Given the description of an element on the screen output the (x, y) to click on. 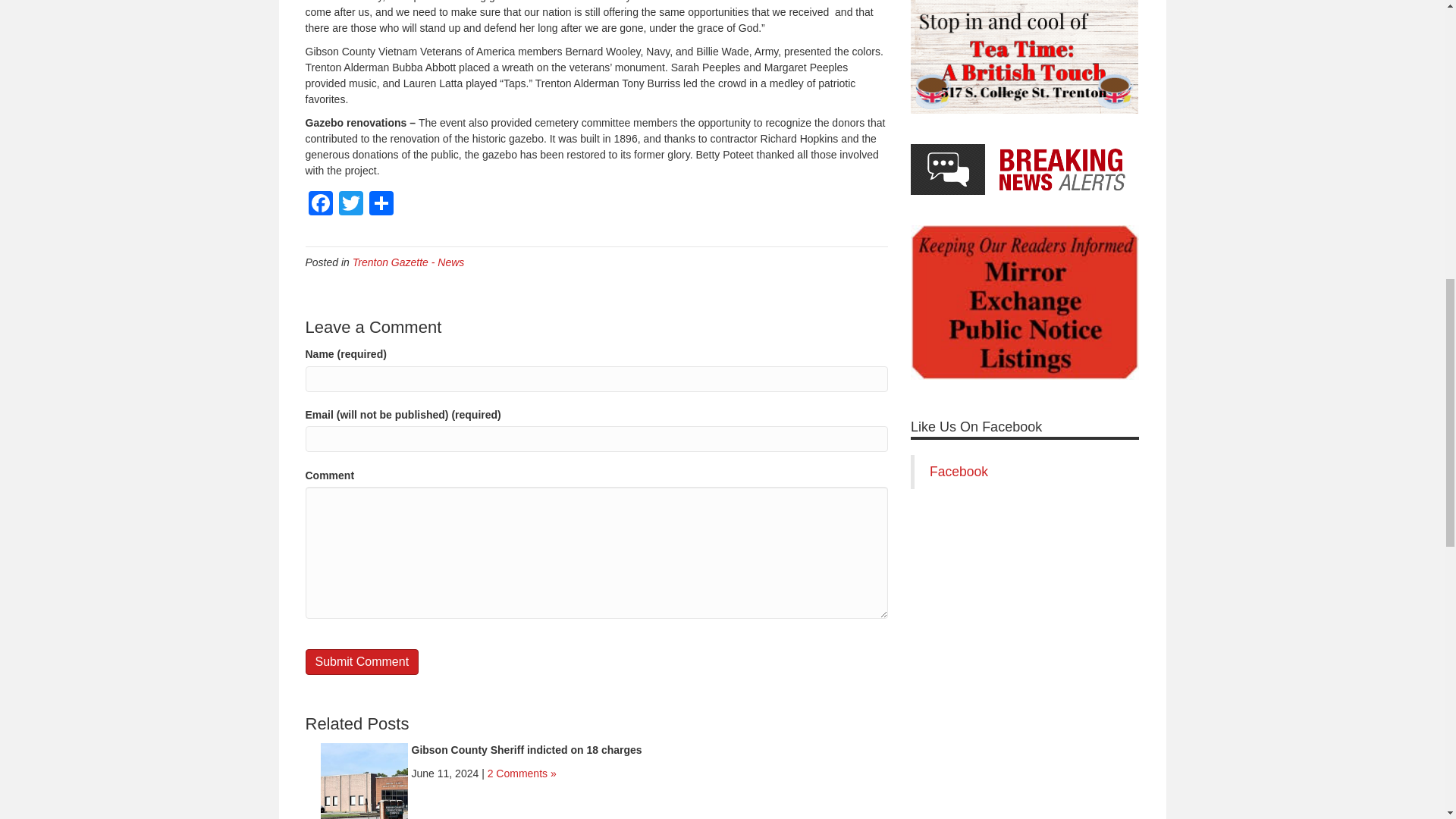
Gibson County Sheriff indicted on 18 charges (363, 786)
Facebook (319, 204)
Twitter (349, 204)
Submit Comment (361, 661)
Gibson County Sheriff indicted on 18 charges (526, 749)
